Given the description of an element on the screen output the (x, y) to click on. 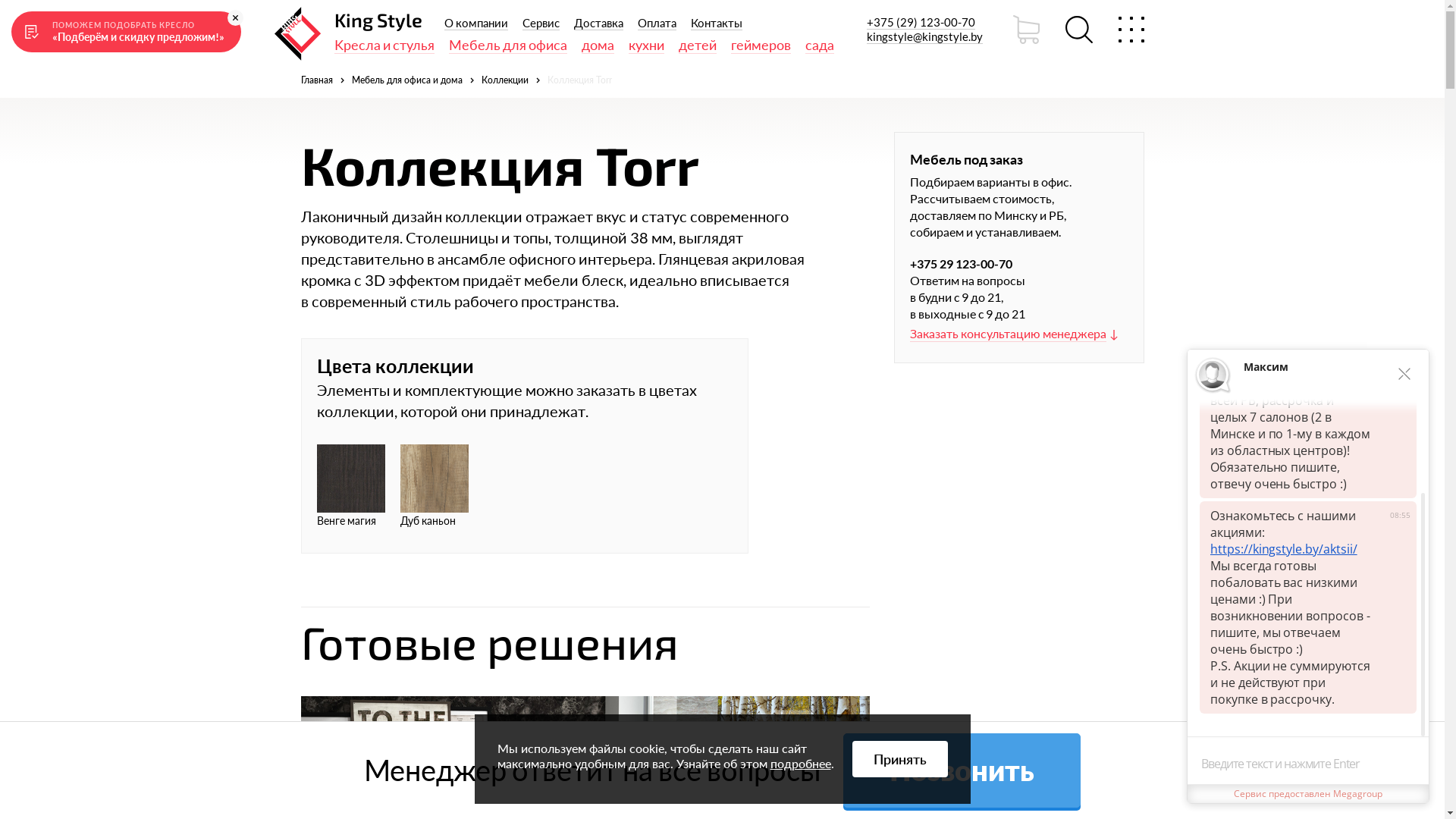
King Style Element type: text (377, 19)
+375 29 123-00-70 Element type: text (1019, 263)
kingstyle@kingstyle.by Element type: text (924, 36)
Megagroup Element type: text (1357, 793)
https://kingstyle.by/aktsii/ Element type: text (1290, 565)
+375 (29) 123-00-70 Element type: text (920, 22)
